Given the description of an element on the screen output the (x, y) to click on. 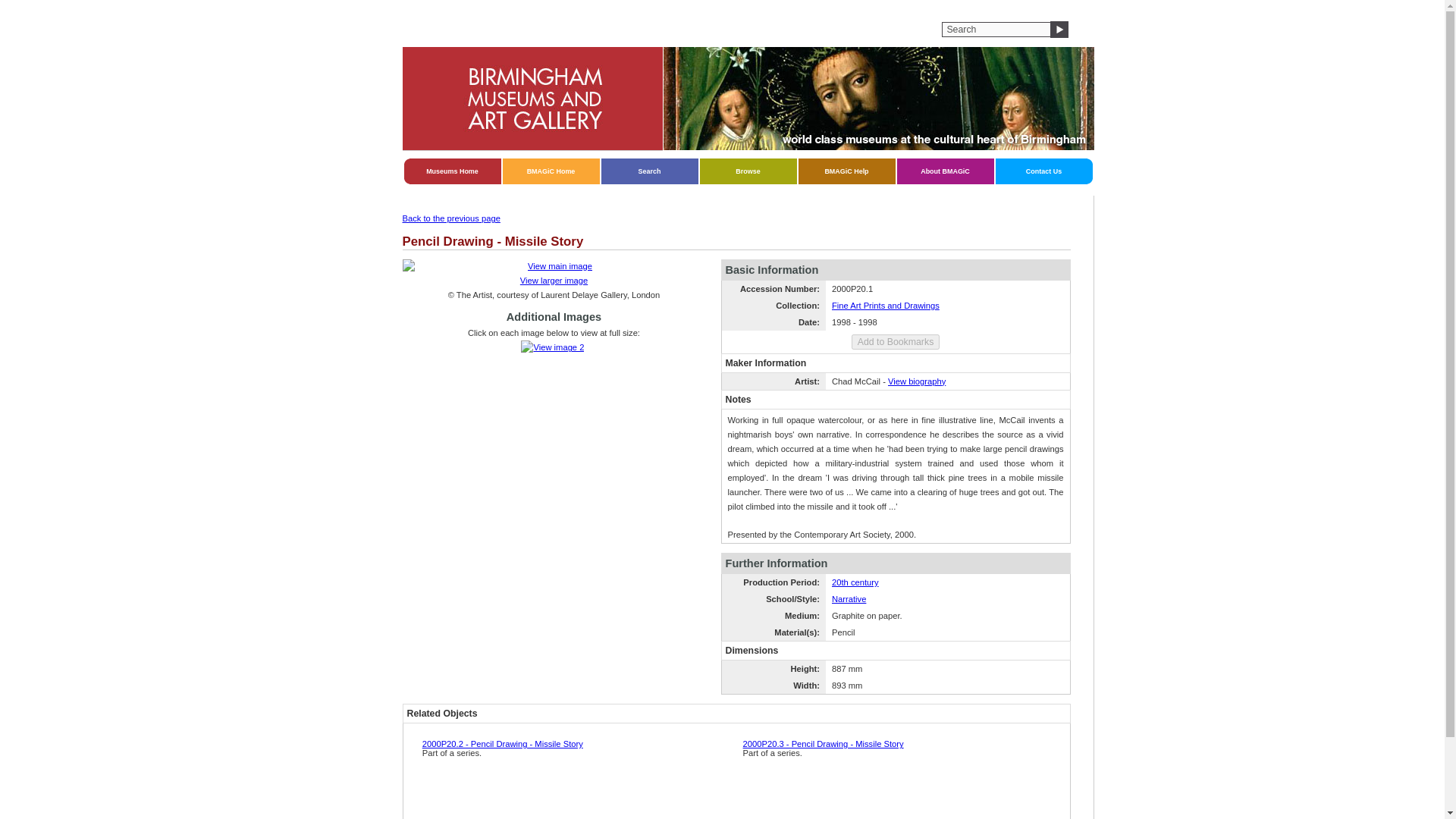
Back to the previous page (450, 217)
Narrative (848, 598)
About BMAGiC (944, 171)
View biography (916, 380)
Browse (747, 171)
BMAGiC Home (549, 171)
2000P20.2 - Pencil Drawing - Missile Story (502, 743)
Search (648, 171)
Fine Art Prints and Drawings (885, 305)
BMAGiC Help (846, 171)
